Given the description of an element on the screen output the (x, y) to click on. 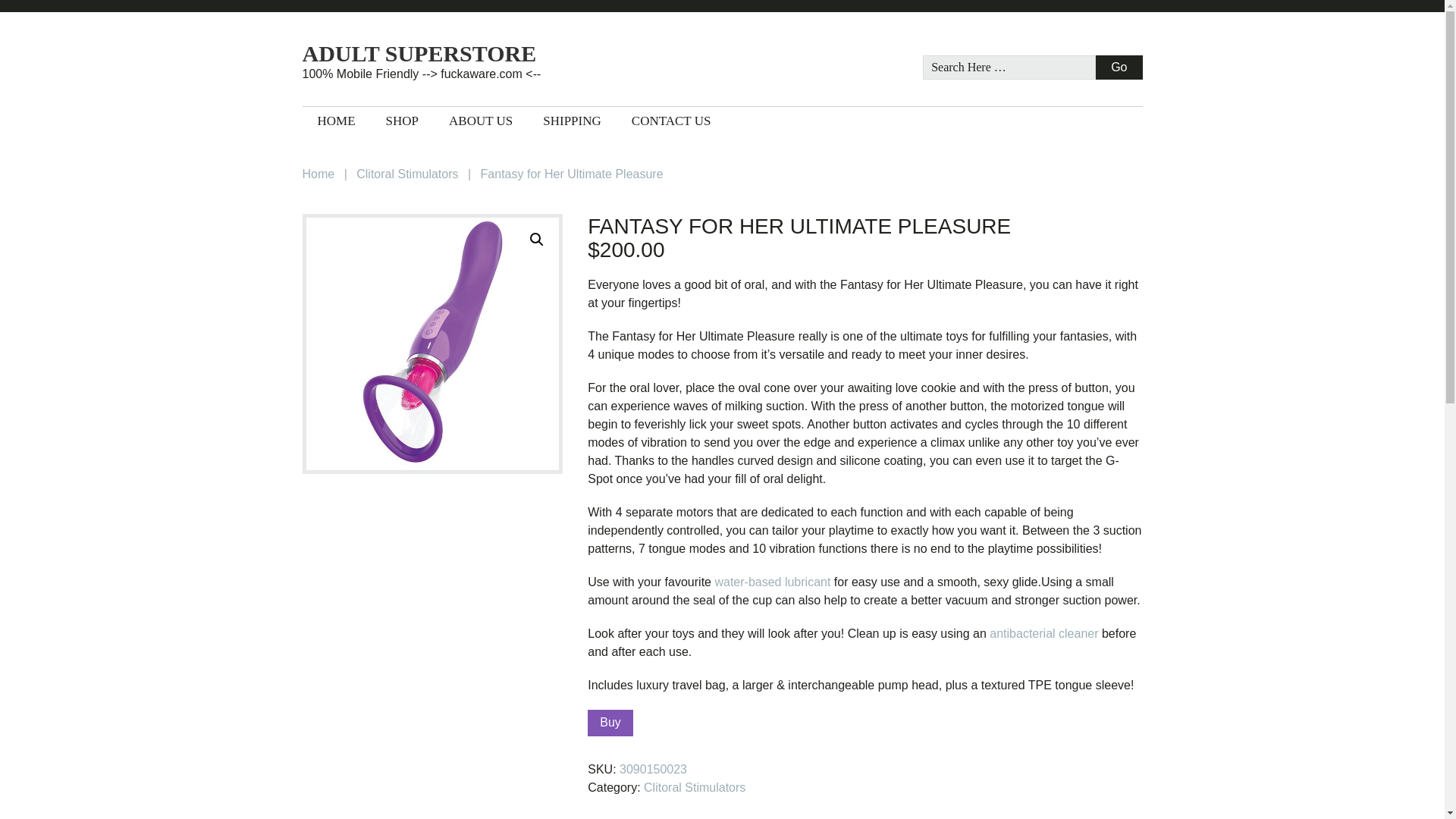
CONTACT US (670, 121)
Clitoral Stimulators (407, 173)
Home (317, 173)
HOME (335, 121)
SHIPPING (571, 121)
antibacterial cleaner (1043, 633)
water-based lubricant (771, 581)
Clitoral Stimulators (694, 787)
Go (1118, 67)
ABOUT US (480, 121)
